Given the description of an element on the screen output the (x, y) to click on. 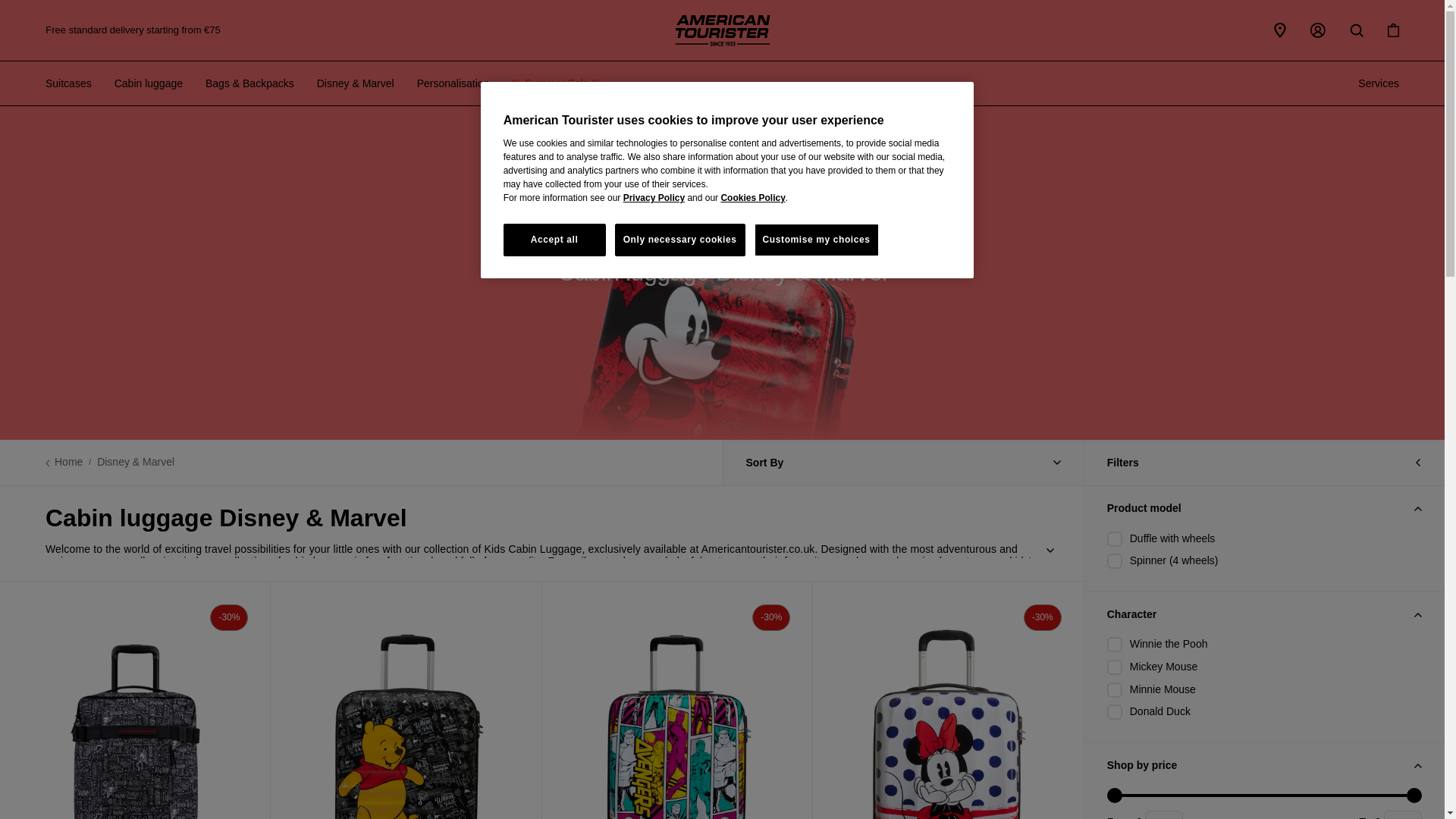
Cabin luggage (149, 83)
Suitcases (68, 83)
Urban Track Disney S Duffle with wheels (135, 700)
Disney Wavebreaker 55 cm Cabin luggage (405, 700)
Disney Legends 55 cm Cabin luggage (947, 700)
